Given the description of an element on the screen output the (x, y) to click on. 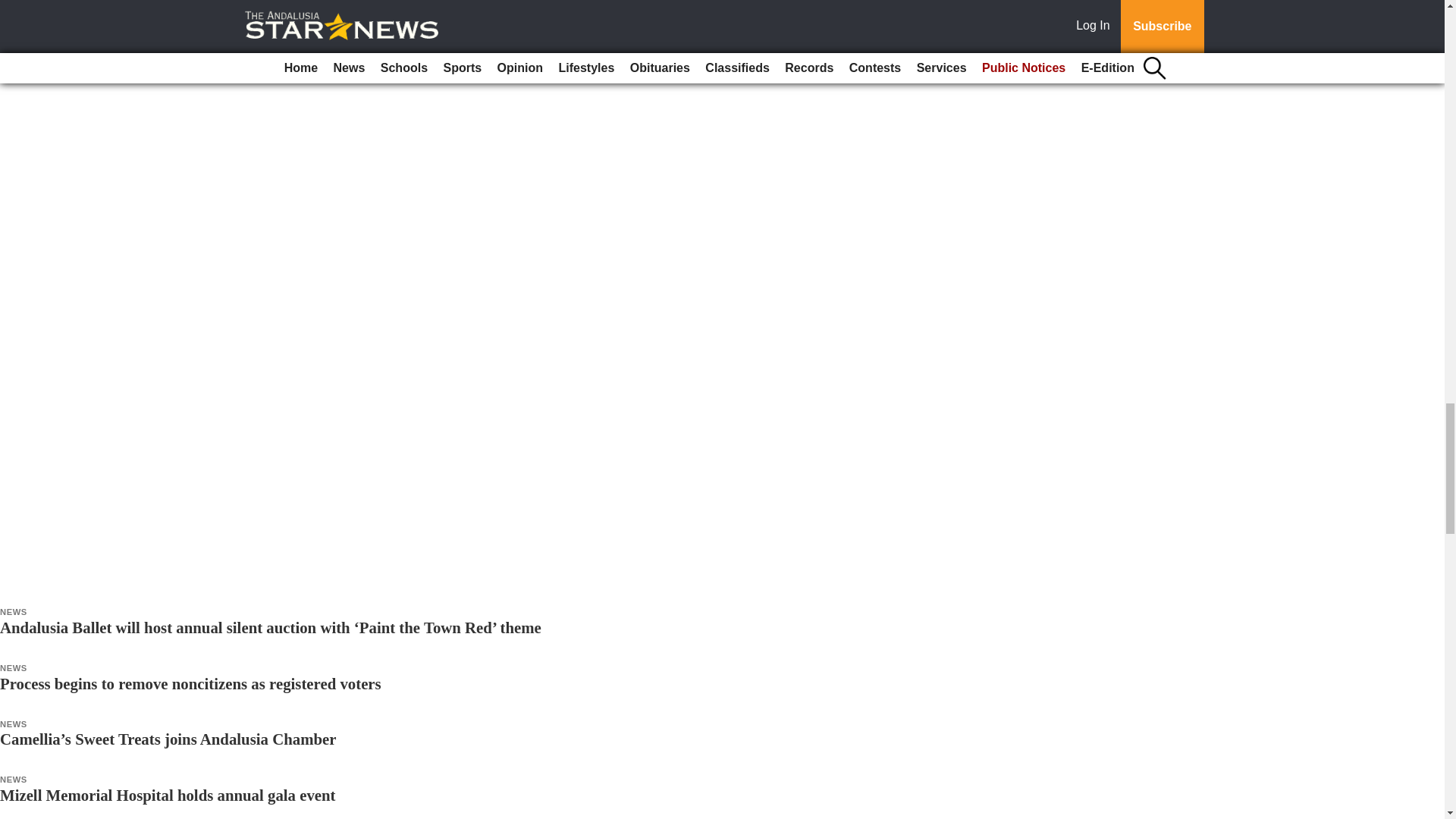
Process begins to remove noncitizens as registered voters (190, 683)
Process begins to remove noncitizens as registered voters (190, 683)
Mizell Memorial Hospital holds annual gala event (168, 794)
Mizell Memorial Hospital holds annual gala event (168, 794)
